Given the description of an element on the screen output the (x, y) to click on. 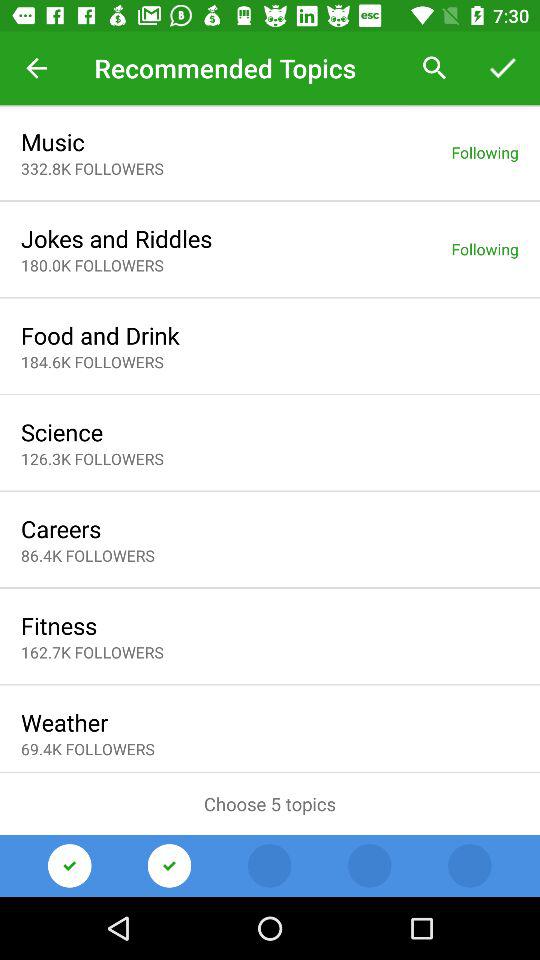
tap icon next to recommended topics icon (36, 68)
